Given the description of an element on the screen output the (x, y) to click on. 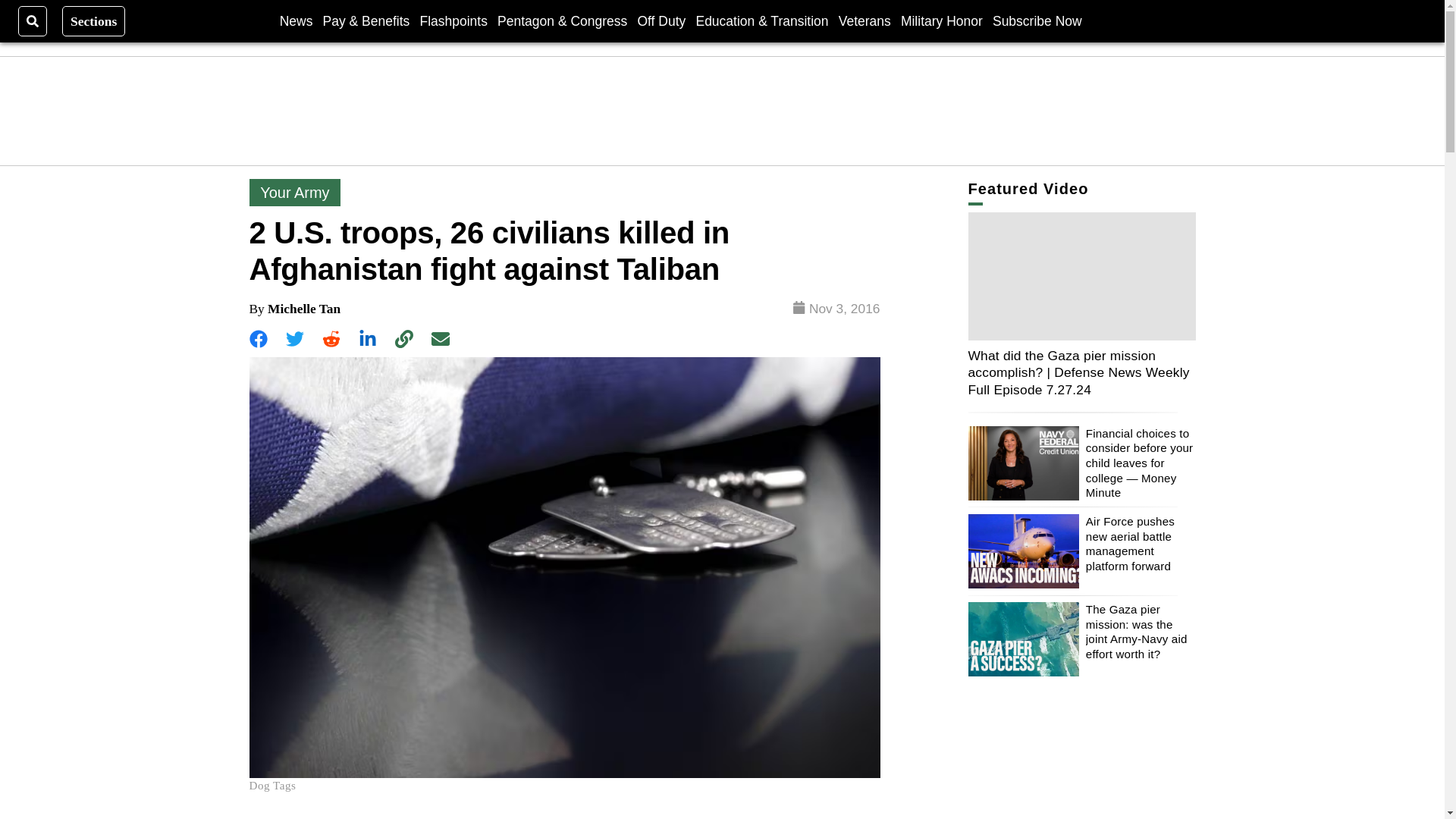
Flashpoints (453, 20)
Off Duty (661, 20)
News (296, 20)
Sections (93, 20)
Military Honor (941, 20)
Veterans (864, 20)
